Given the description of an element on the screen output the (x, y) to click on. 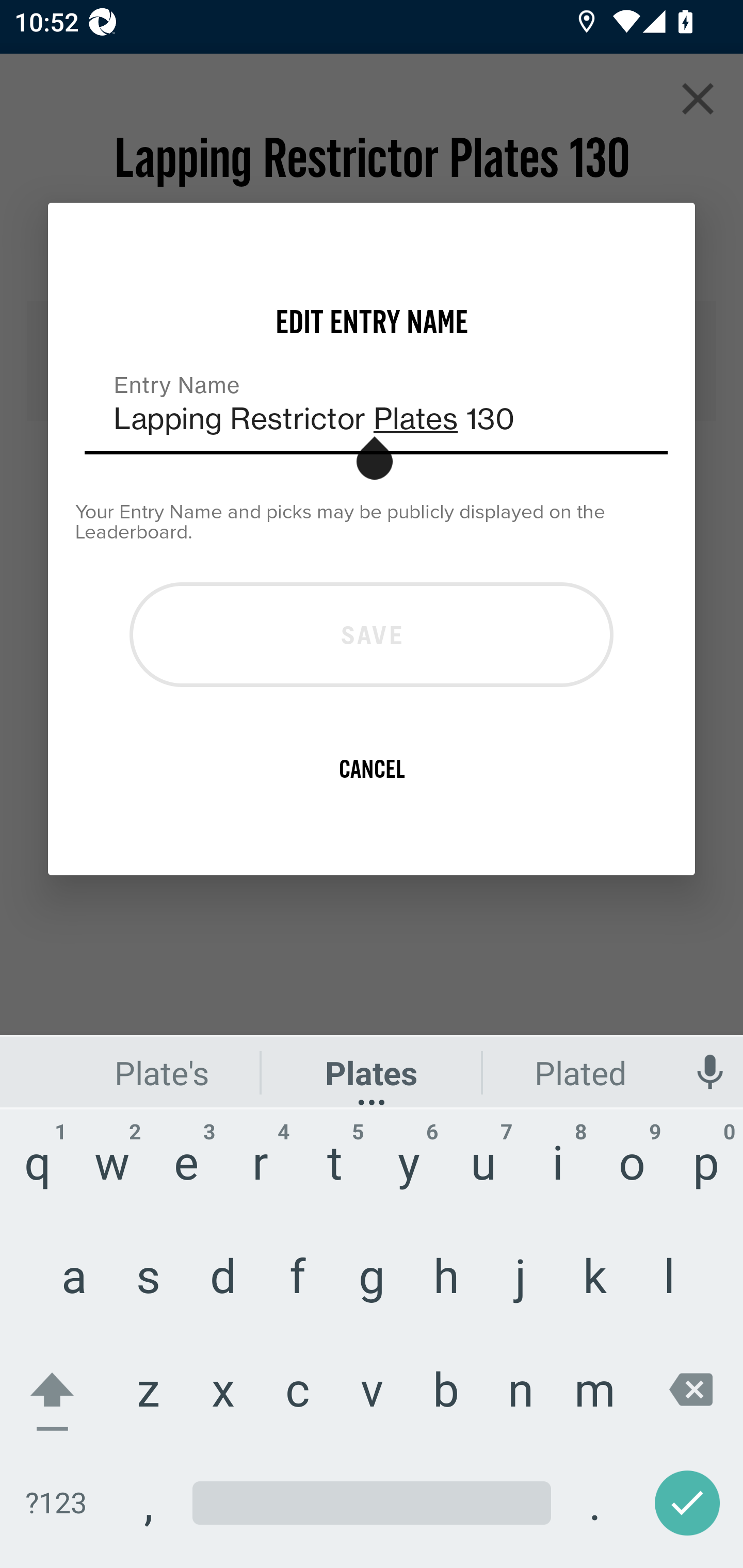
Lapping Restrictor Plates 130 (375, 405)
SAVE (371, 633)
CANCEL (371, 768)
